Given the description of an element on the screen output the (x, y) to click on. 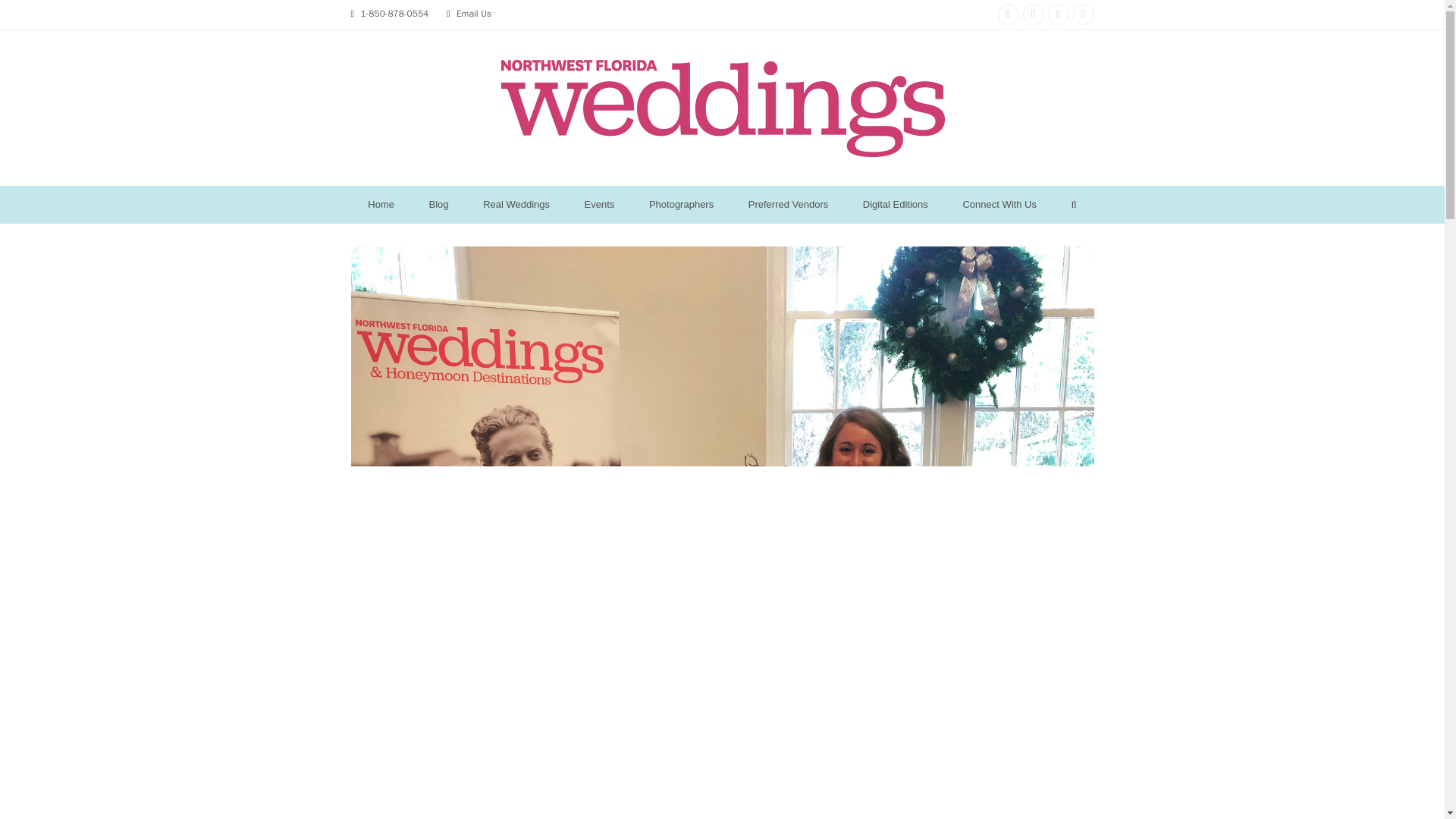
Blog (438, 204)
Photographers (680, 204)
Facebook (1032, 14)
Facebook (1032, 14)
Twitter (1082, 14)
Home (380, 204)
Preferred Vendors (787, 204)
Pinterest (1058, 14)
Events (599, 204)
Connect With Us (999, 204)
